Given the description of an element on the screen output the (x, y) to click on. 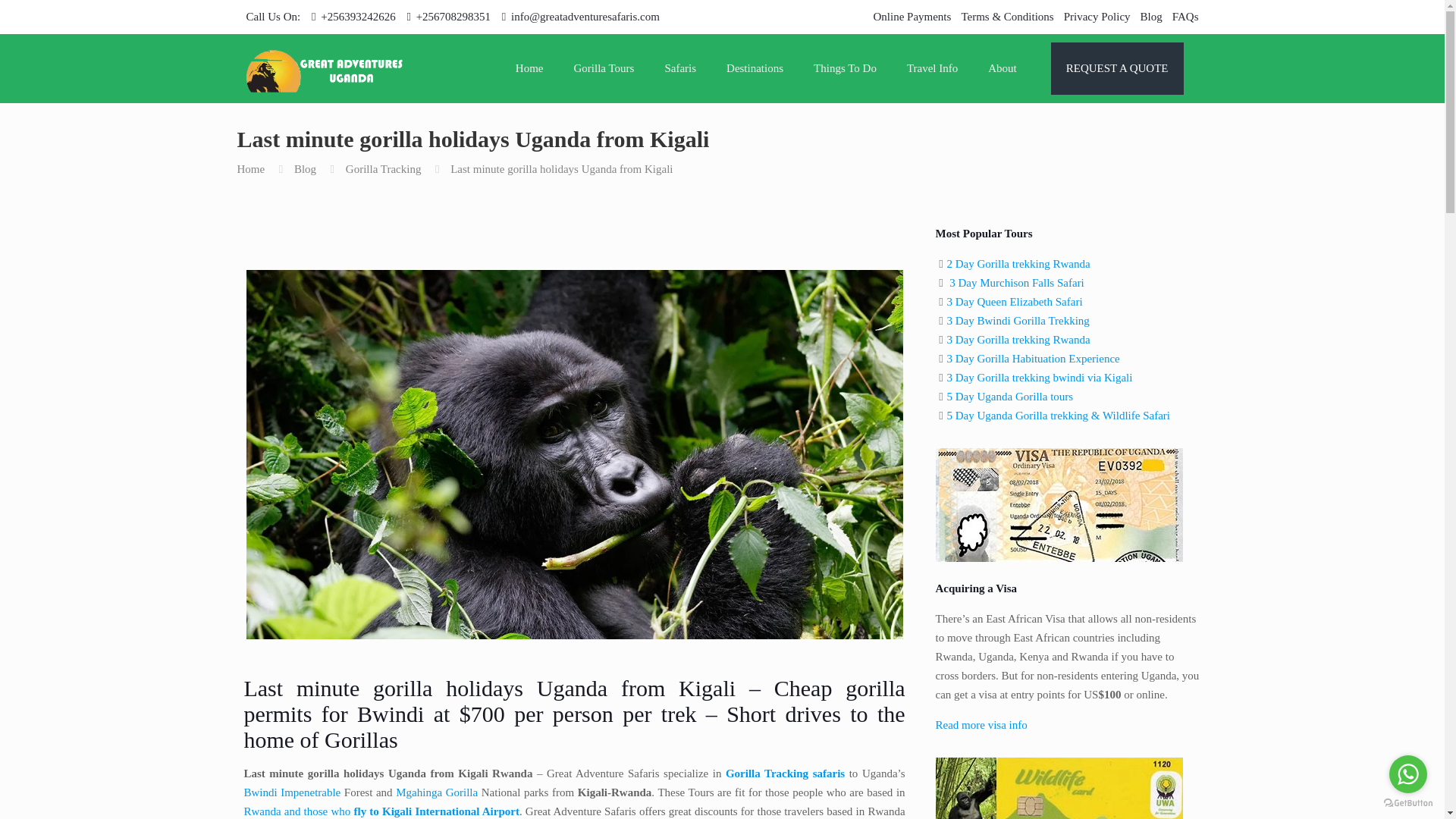
Gorilla Tours (603, 68)
Great Adventures Safaris (324, 68)
Destinations (754, 68)
Online Payments (911, 16)
Privacy Policy (1097, 16)
FAQs (1185, 16)
Safaris (680, 68)
Blog (1150, 16)
